Given the description of an element on the screen output the (x, y) to click on. 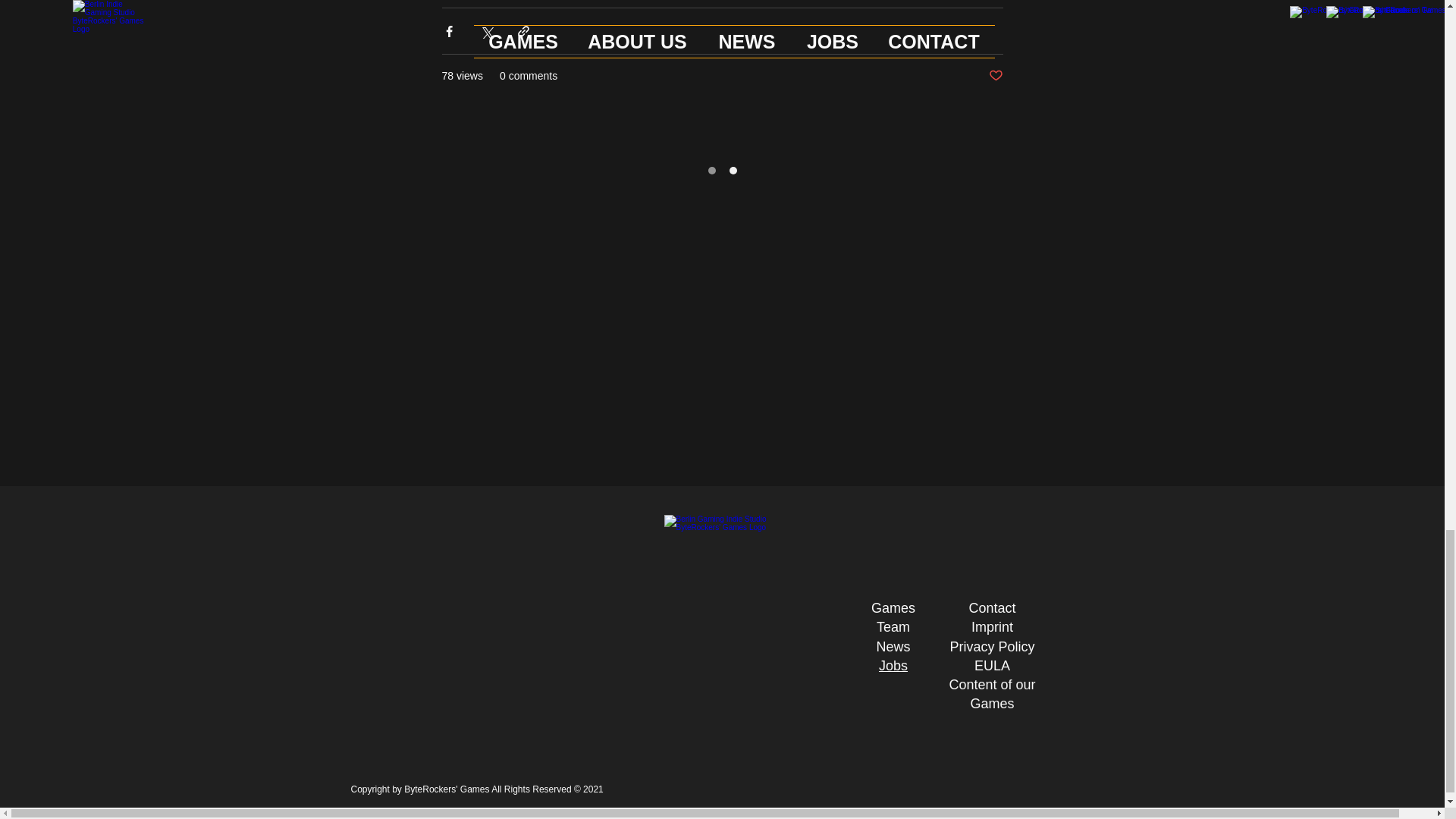
Contact (991, 607)
Jobs (893, 665)
Post not marked as liked (995, 75)
Imprint (992, 626)
News (893, 646)
Team (893, 626)
Privacy Policy (991, 646)
EULA (992, 665)
Content of our Games (992, 694)
Games (892, 607)
